Given the description of an element on the screen output the (x, y) to click on. 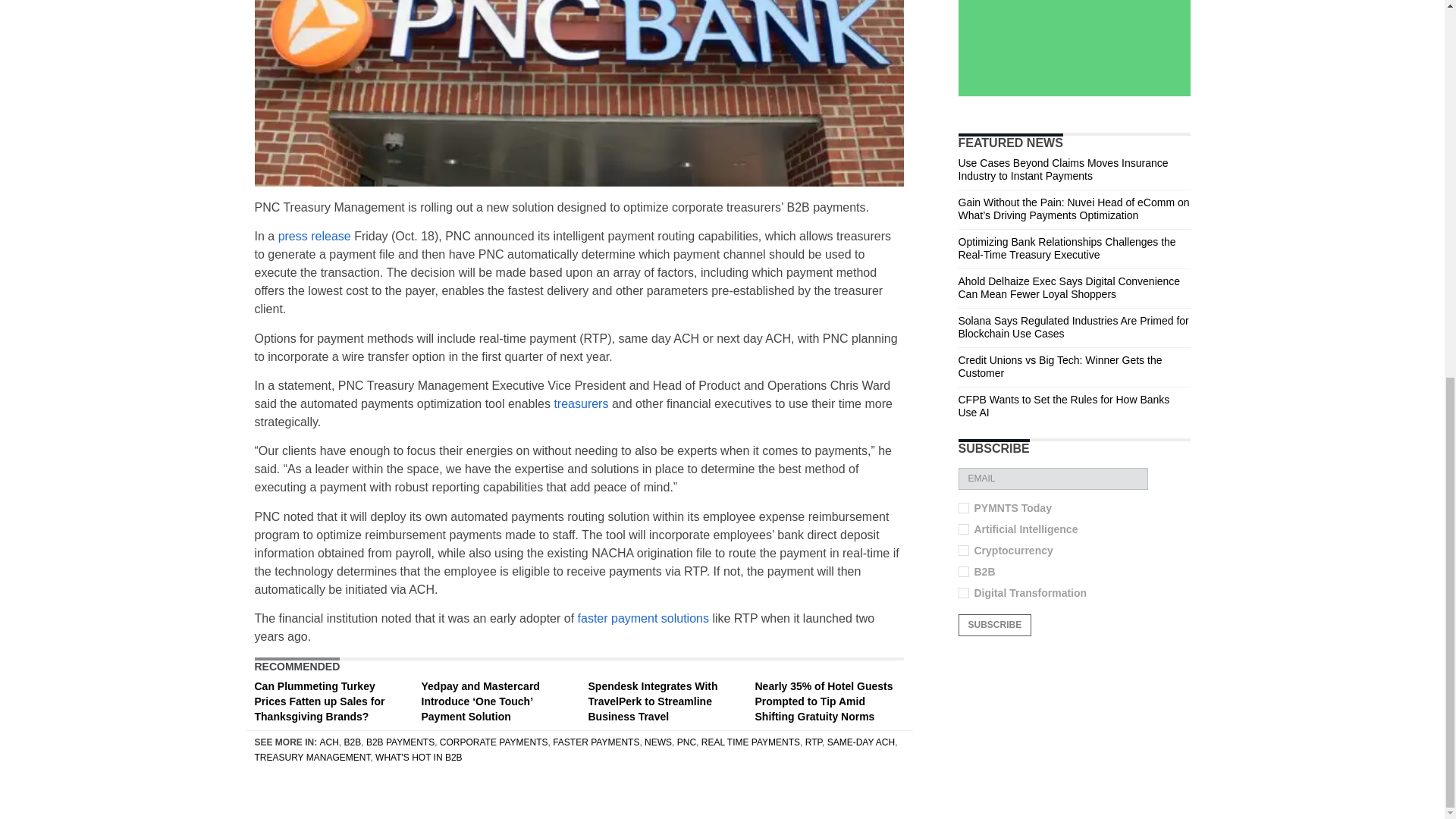
1 (963, 593)
1 (963, 550)
1 (963, 529)
1 (963, 507)
1 (963, 571)
